Given the description of an element on the screen output the (x, y) to click on. 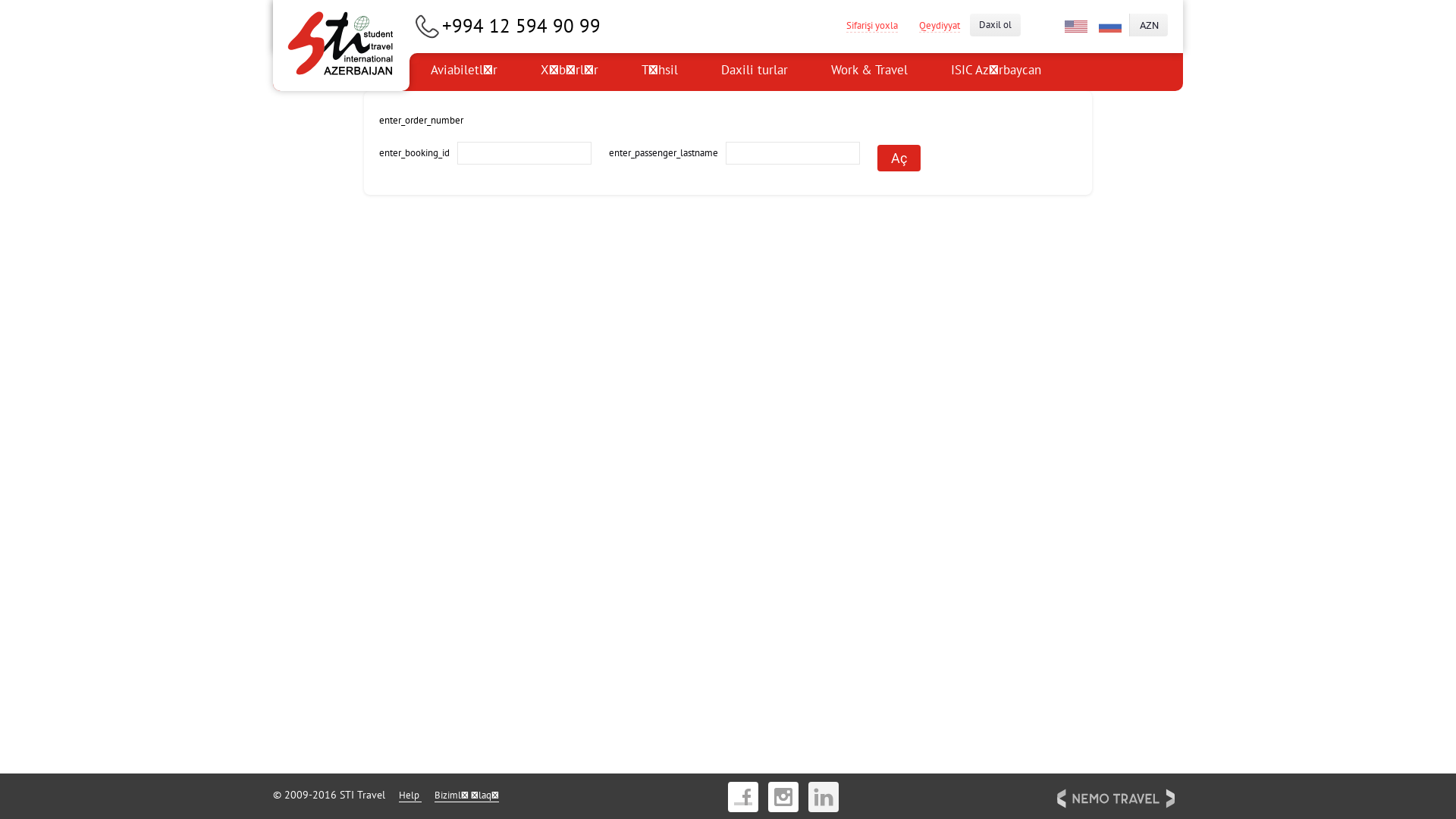
Daxil ol Element type: text (994, 24)
AZN Element type: text (1148, 24)
Daxili turlar Element type: text (754, 72)
Help Element type: text (409, 795)
Qeydiyyat Element type: text (939, 24)
Work & Travel Element type: text (869, 72)
